Given the description of an element on the screen output the (x, y) to click on. 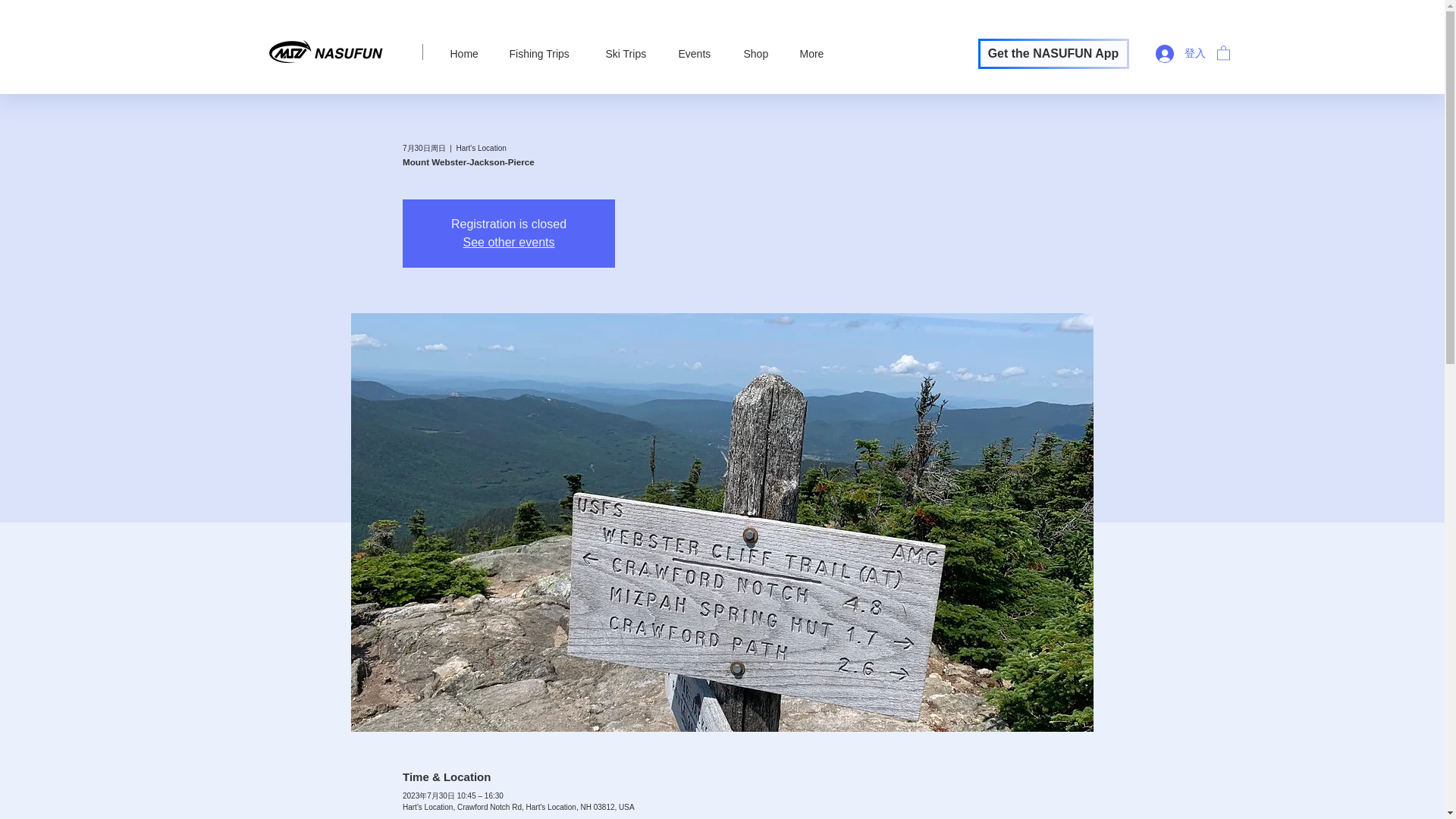
Events (699, 53)
Get the NASUFUN App (1053, 53)
Fishing Trips (545, 53)
Shop (760, 53)
Ski Trips (630, 53)
See other events (508, 241)
Home (467, 53)
